Given the description of an element on the screen output the (x, y) to click on. 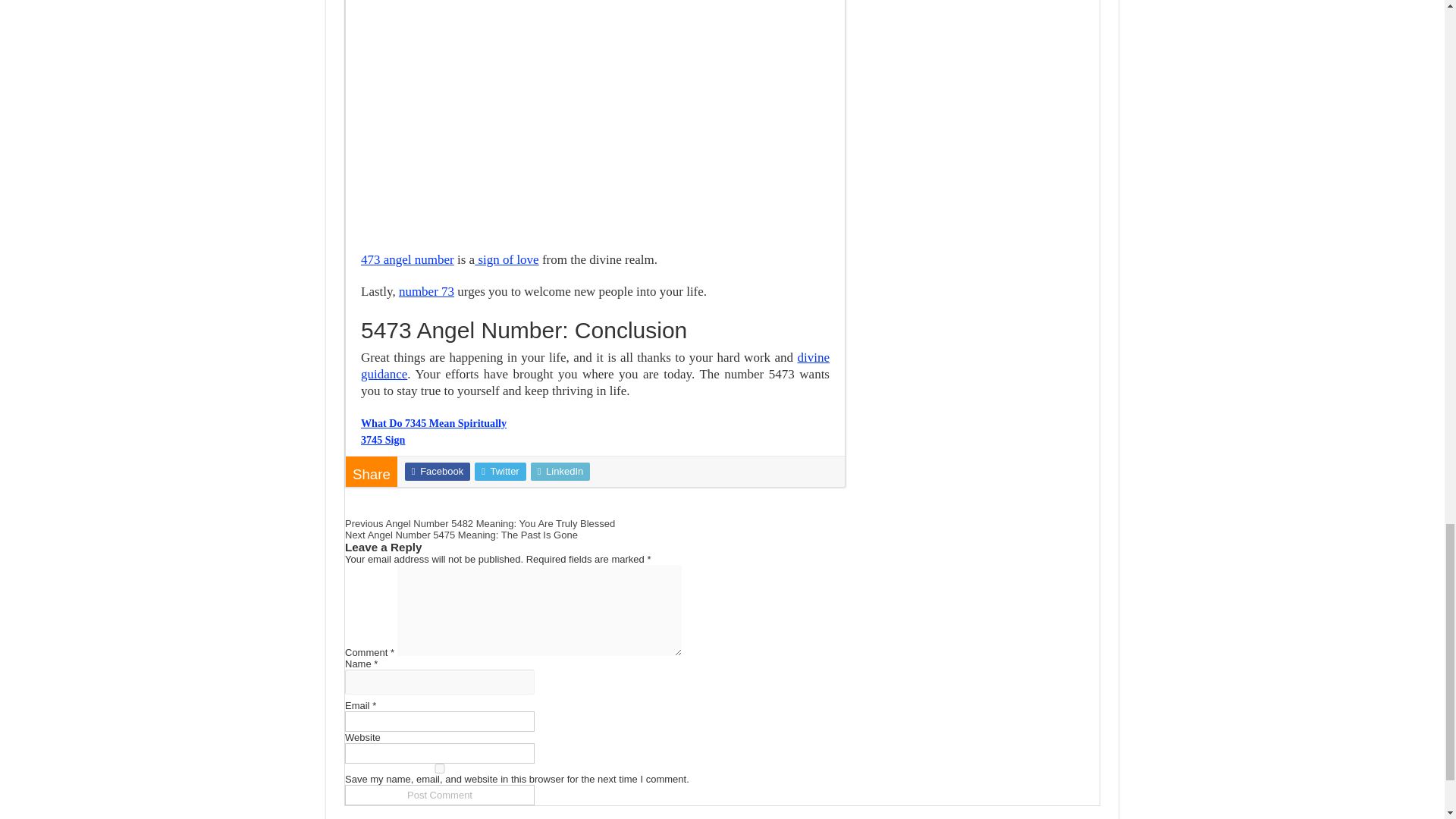
What Do 7345 Mean Spiritually (433, 422)
yes (439, 768)
number 73 (426, 291)
Post Comment (439, 794)
What Do 7345 Mean Spiritually (433, 422)
sign of love (506, 259)
3745 Sign (382, 439)
473 angel number (407, 259)
divine guidance (595, 365)
